Given the description of an element on the screen output the (x, y) to click on. 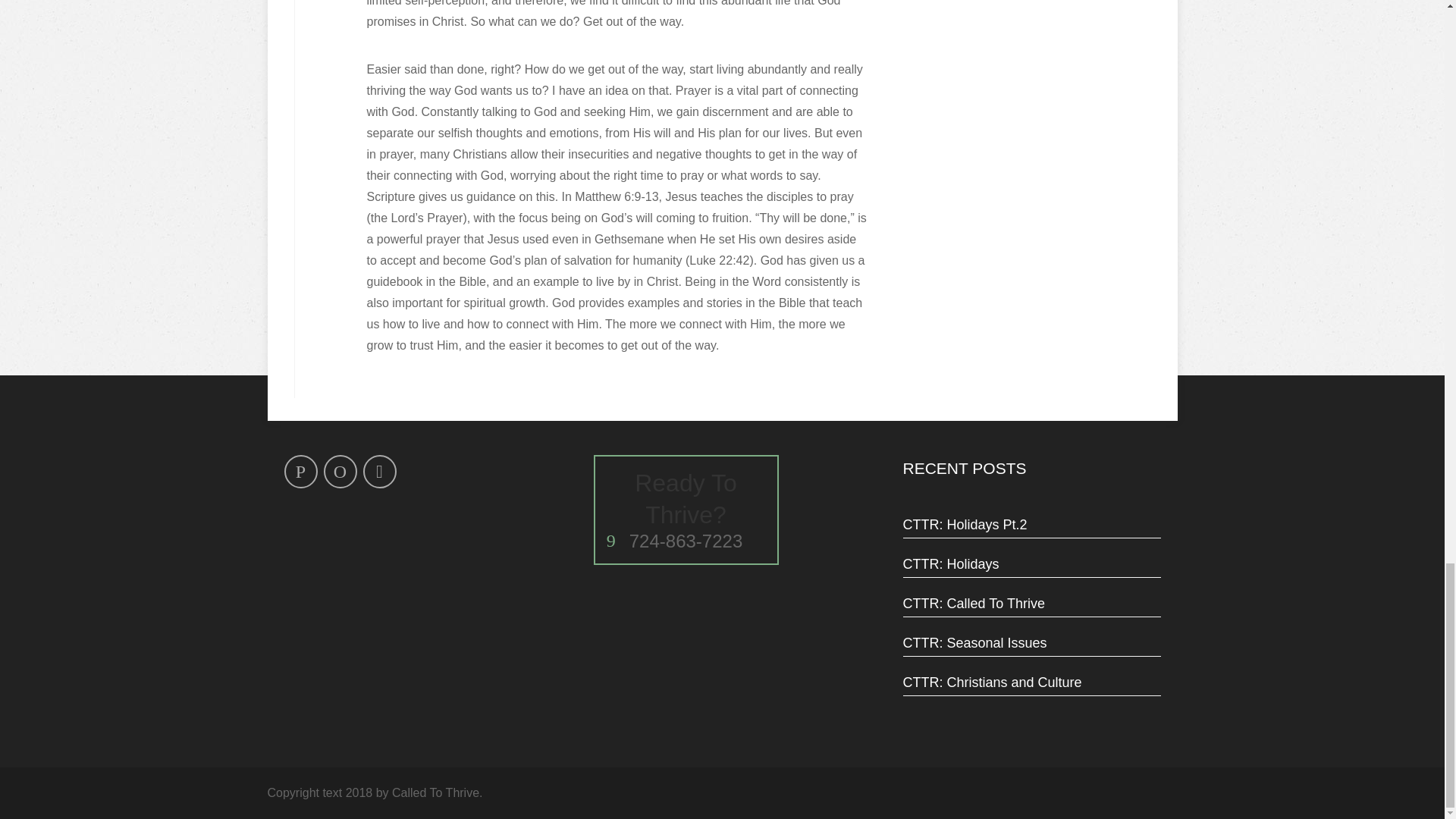
CTTR: Christians and Culture (1031, 682)
CTTR: Seasonal Issues (1031, 643)
CTTR: Called To Thrive (1031, 603)
CTTR: Holidays (1031, 563)
CTTR: Holidays Pt.2 (1031, 524)
